Given the description of an element on the screen output the (x, y) to click on. 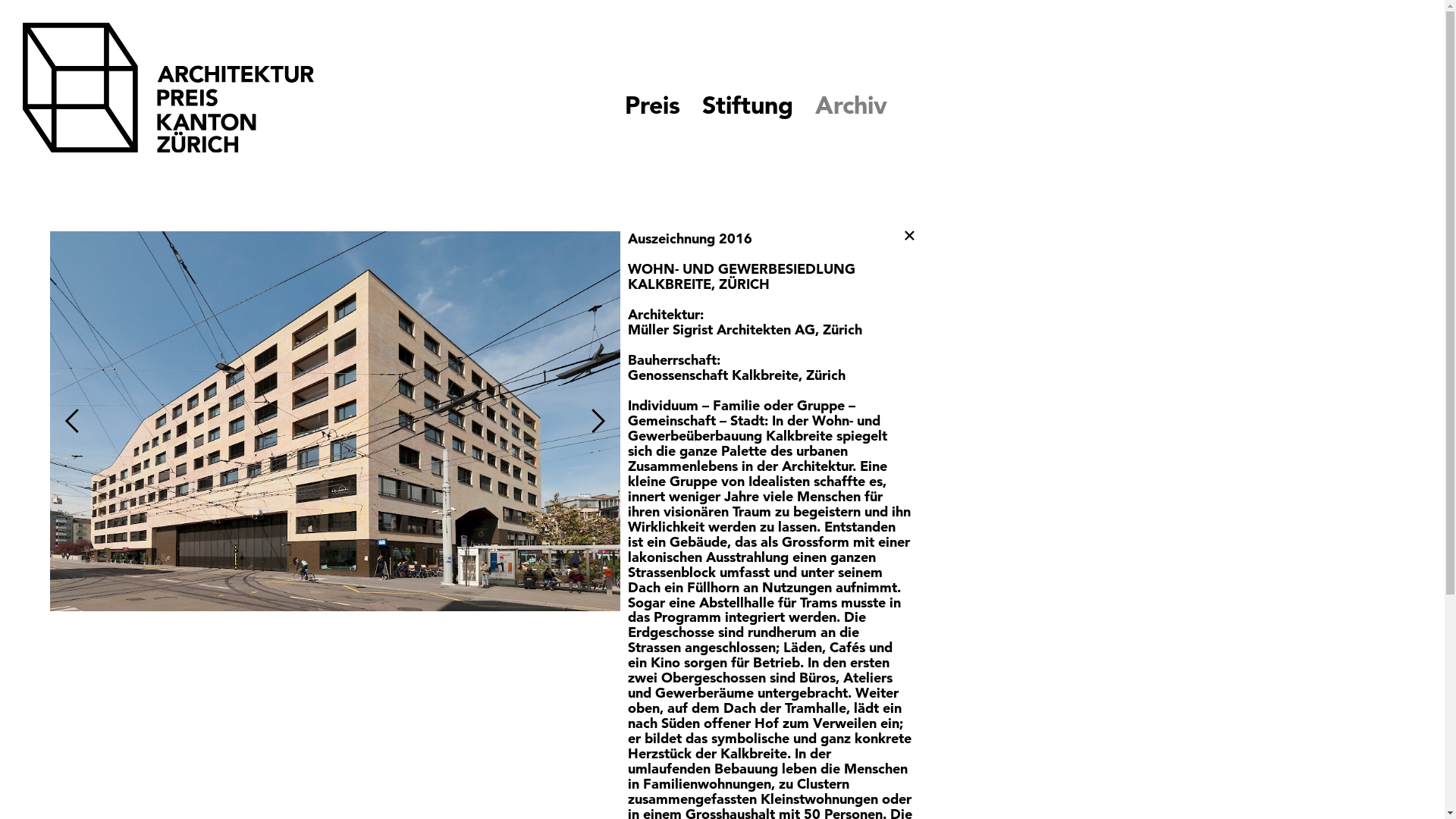
Preis Element type: text (652, 104)
Archiv Element type: text (851, 104)
Stiftung Element type: text (747, 104)
